Given the description of an element on the screen output the (x, y) to click on. 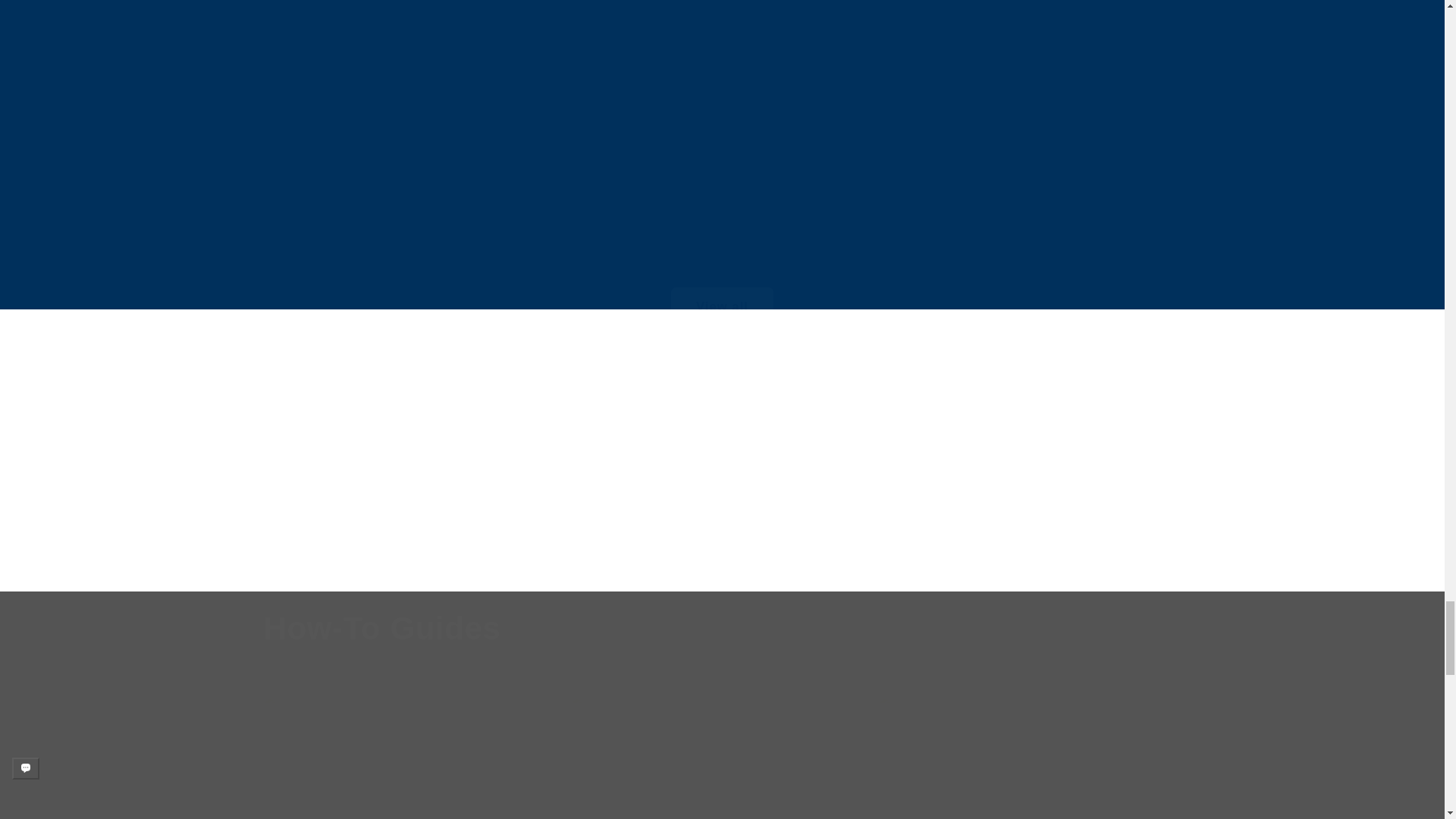
How-To Guides (381, 629)
View all (721, 285)
